Given the description of an element on the screen output the (x, y) to click on. 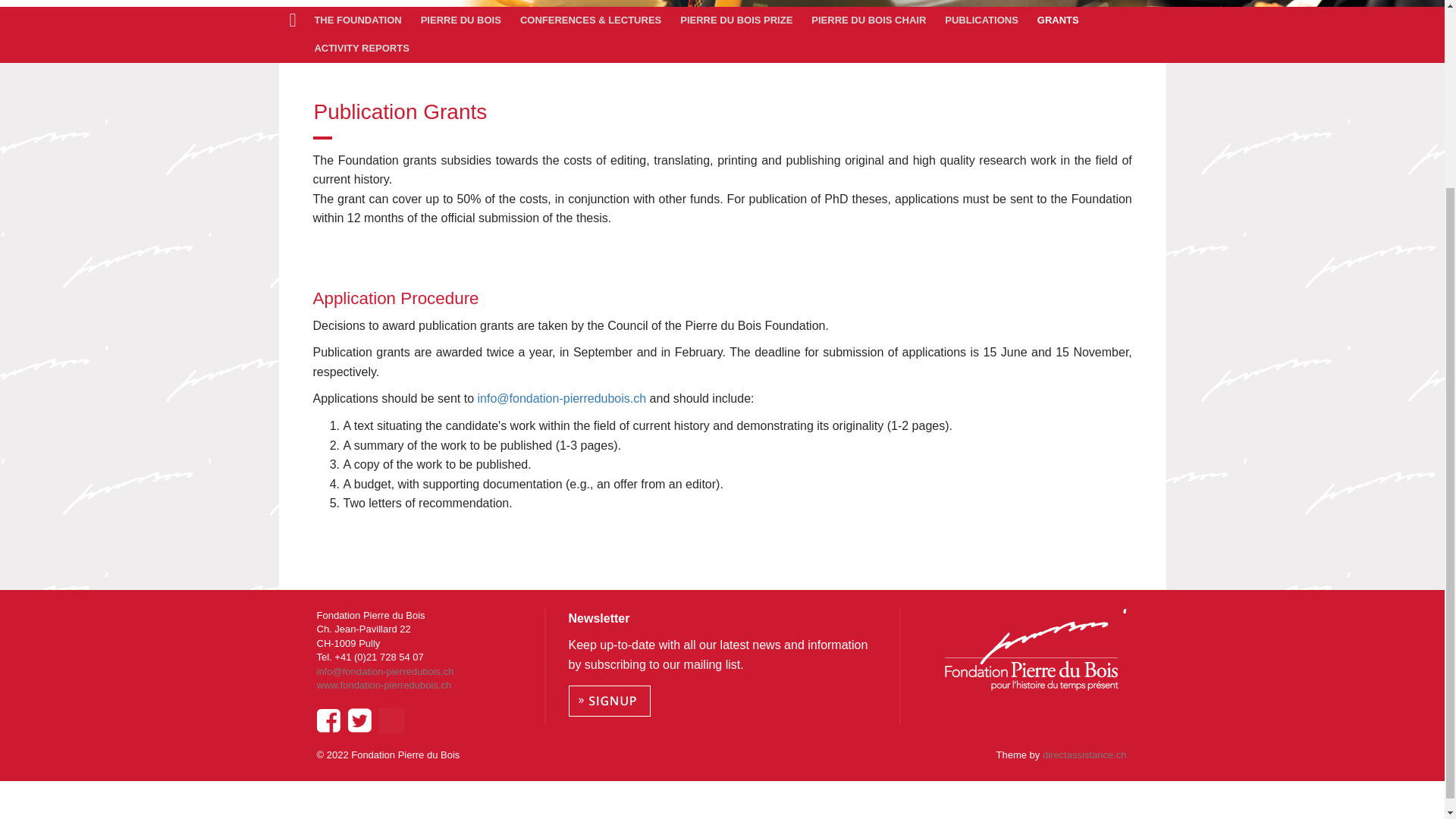
Sign up (609, 700)
Pierre du Bois (462, 20)
PIERRE DU BOIS (462, 20)
LinkedIn (391, 720)
Facebook (327, 720)
Fondation Pierre du Bois (1035, 650)
Twitter (359, 720)
